Given the description of an element on the screen output the (x, y) to click on. 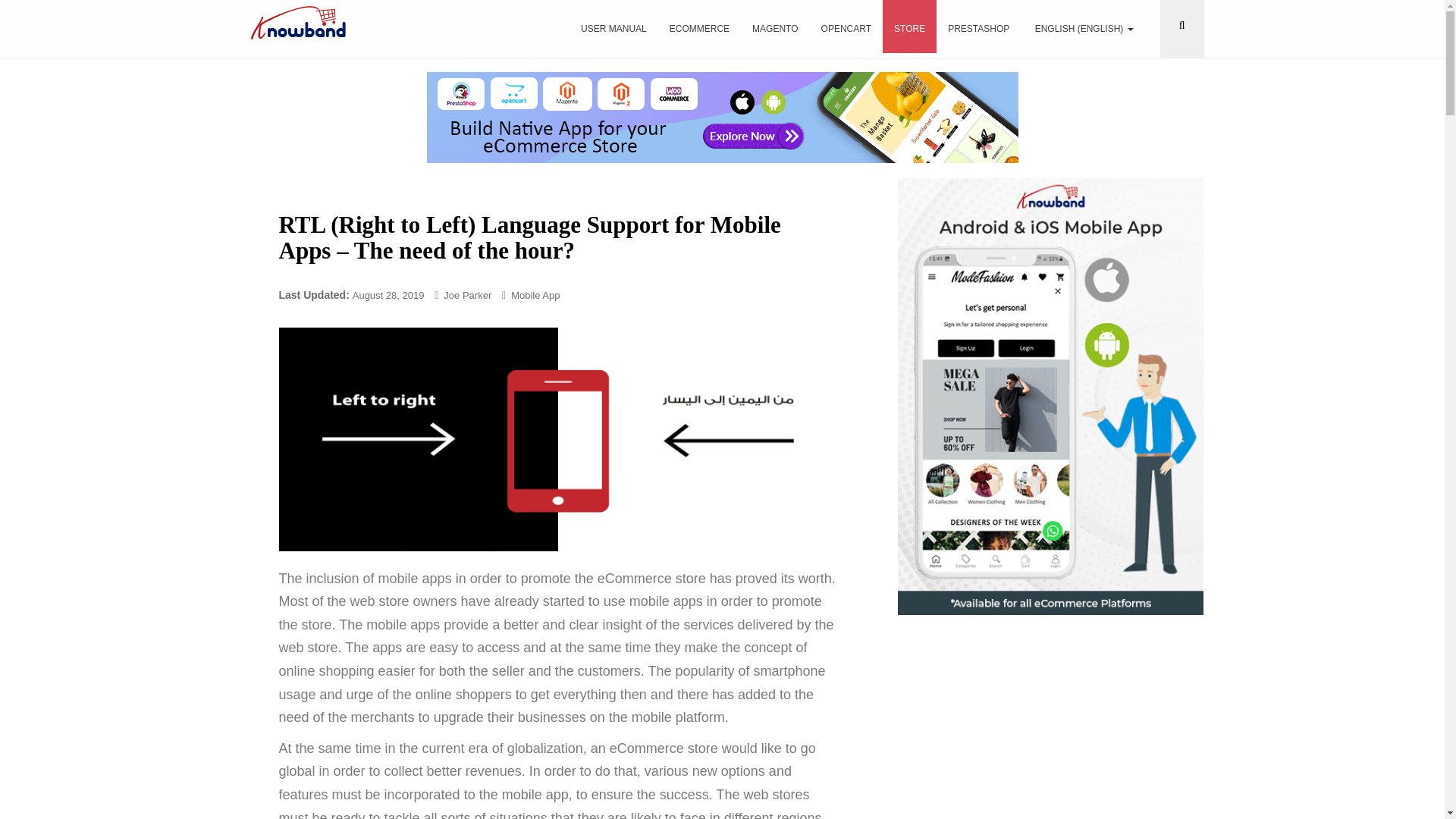
August 28, 2019 (388, 295)
Store (909, 26)
Opencart (845, 28)
Prestashop (978, 28)
Mobile App (535, 295)
PRESTASHOP (978, 28)
STORE (909, 26)
User Manual (613, 28)
OPENCART (845, 28)
Magento (775, 28)
